Given the description of an element on the screen output the (x, y) to click on. 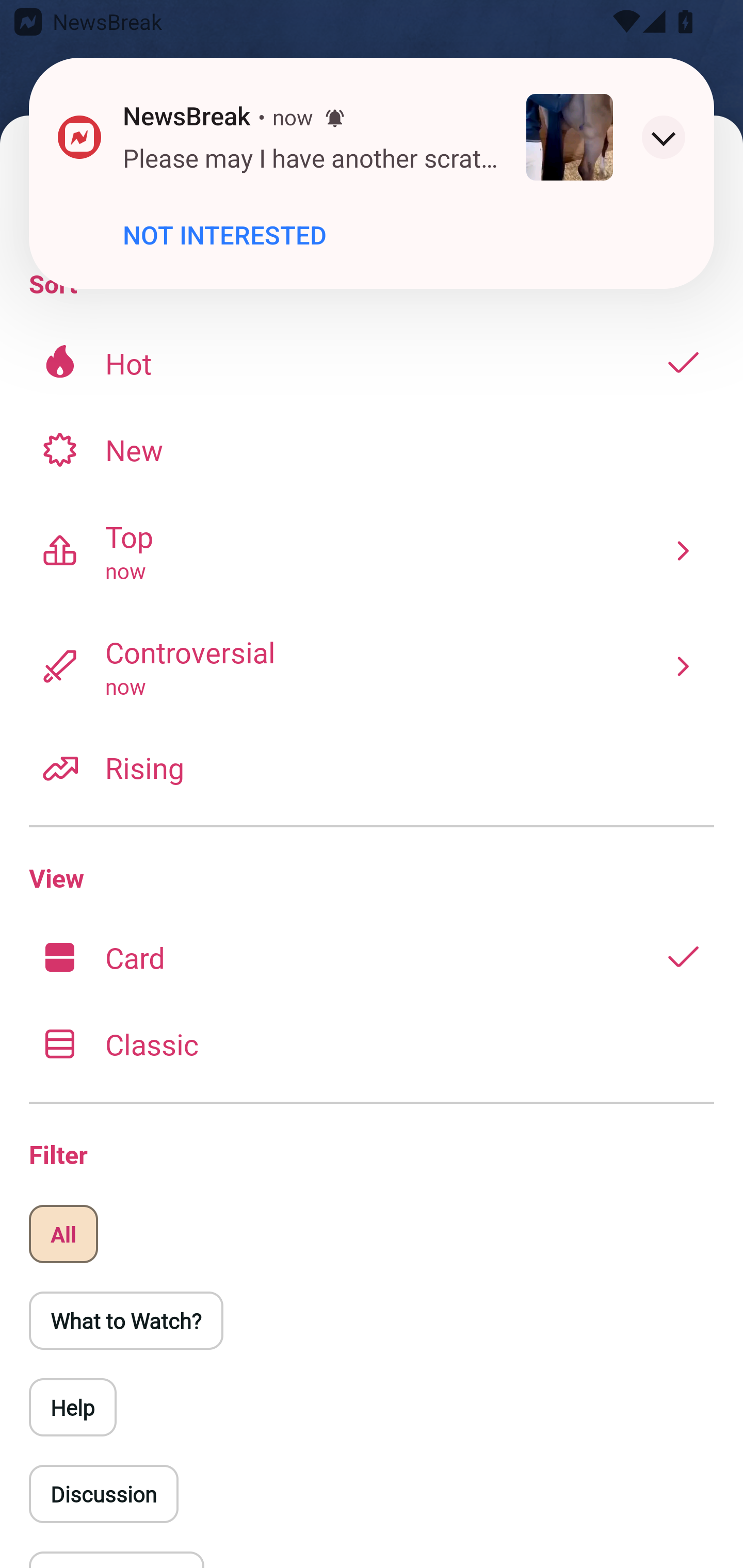
Back (64, 115)
More community actions (677, 115)
Hot (371, 362)
New (371, 449)
Top now (371, 550)
Controversial now (371, 666)
Rising (371, 767)
Card (371, 957)
Classic (371, 1043)
All (63, 1233)
What to Watch? (125, 1320)
Help (72, 1407)
Discussion (103, 1493)
